Given the description of an element on the screen output the (x, y) to click on. 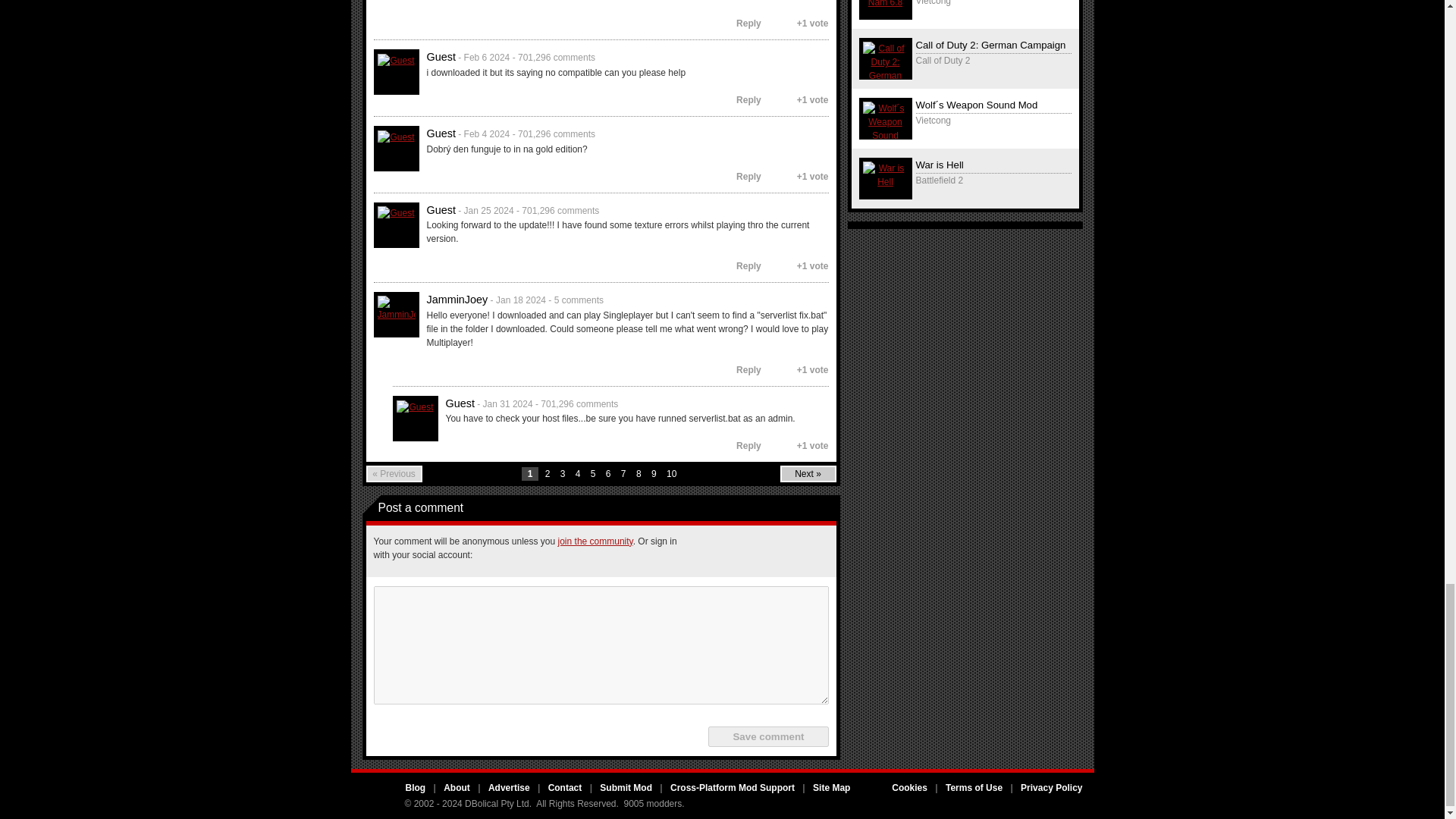
Save comment (767, 736)
